Given the description of an element on the screen output the (x, y) to click on. 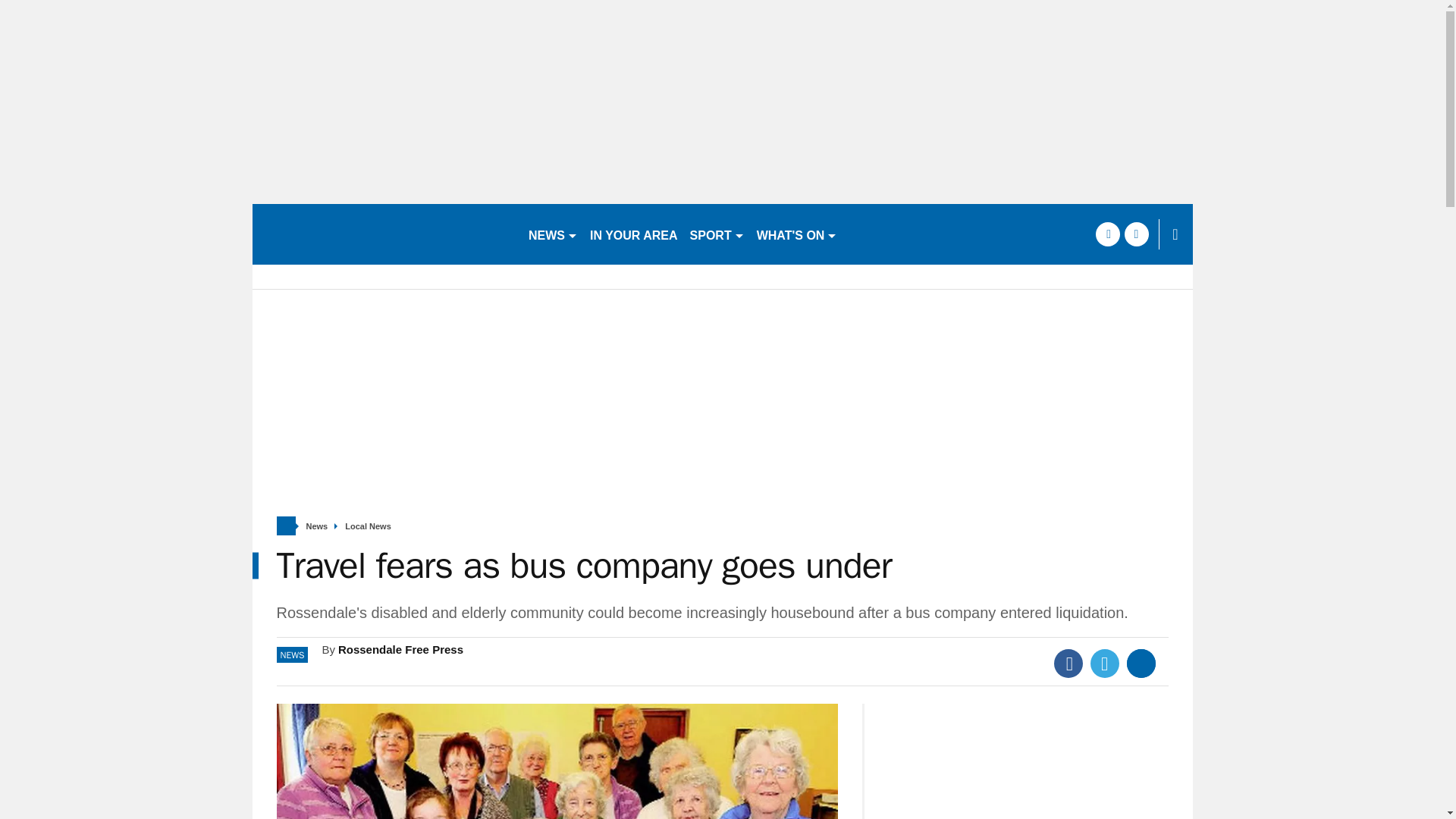
WHAT'S ON (797, 233)
SPORT (717, 233)
twitter (1136, 233)
IN YOUR AREA (633, 233)
Twitter (1104, 663)
Facebook (1068, 663)
rossendale (383, 233)
facebook (1106, 233)
NEWS (552, 233)
